Given the description of an element on the screen output the (x, y) to click on. 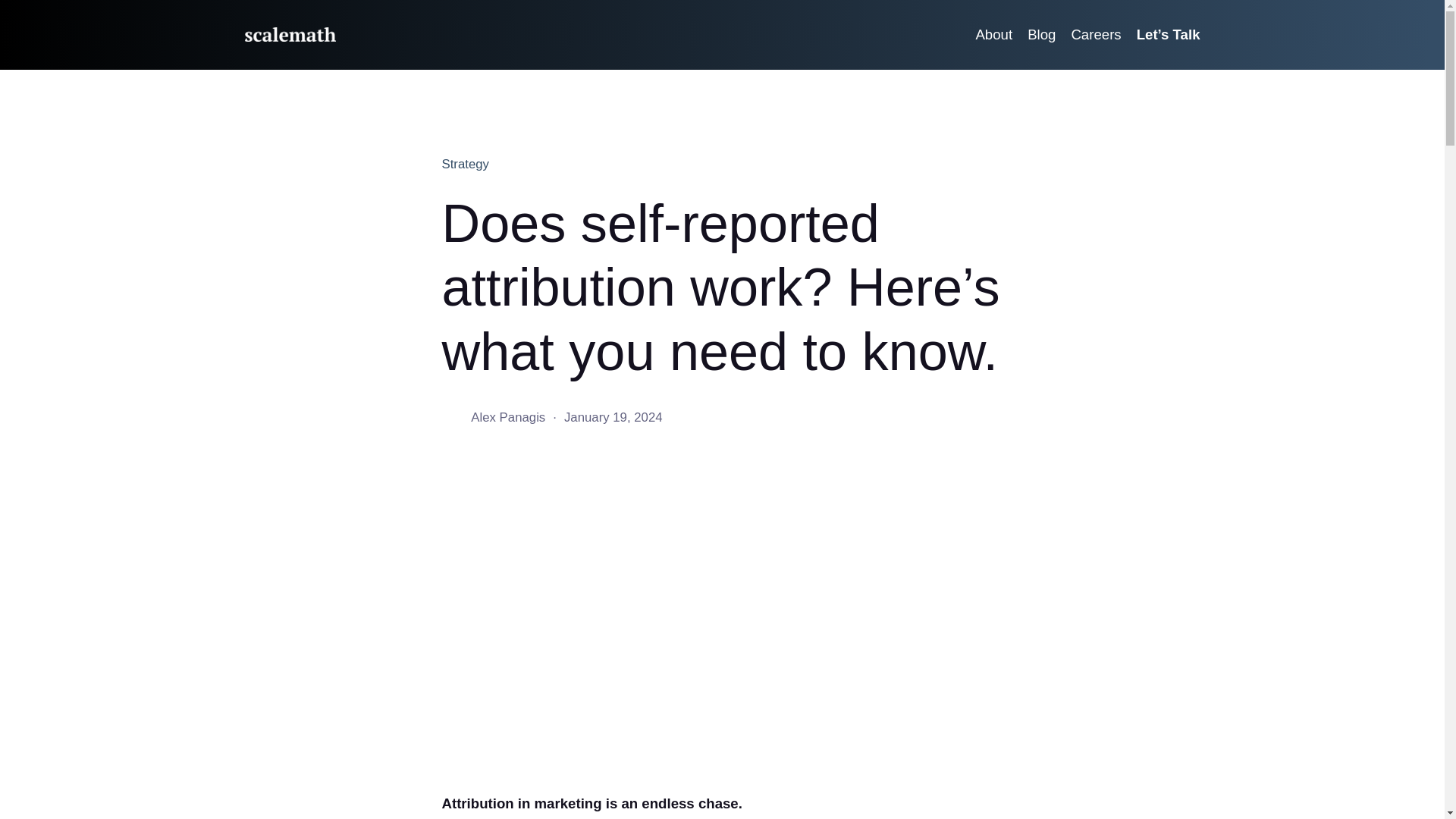
Careers (1095, 34)
About (993, 34)
Strategy (465, 164)
Blog (1041, 34)
